Given the description of an element on the screen output the (x, y) to click on. 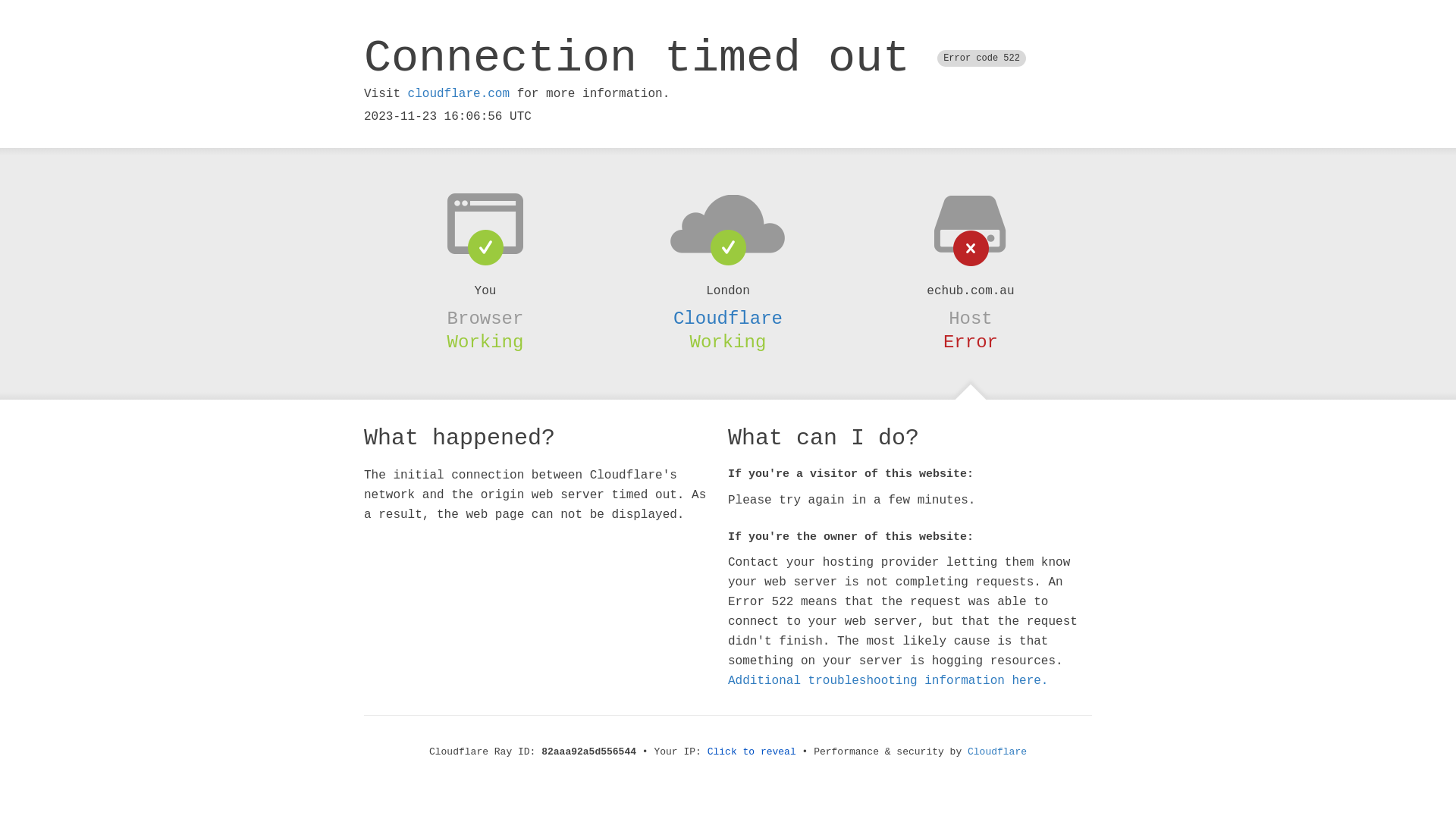
Cloudflare Element type: text (727, 318)
cloudflare.com Element type: text (458, 93)
Additional troubleshooting information here. Element type: text (888, 680)
Cloudflare Element type: text (996, 751)
Click to reveal Element type: text (751, 751)
